Given the description of an element on the screen output the (x, y) to click on. 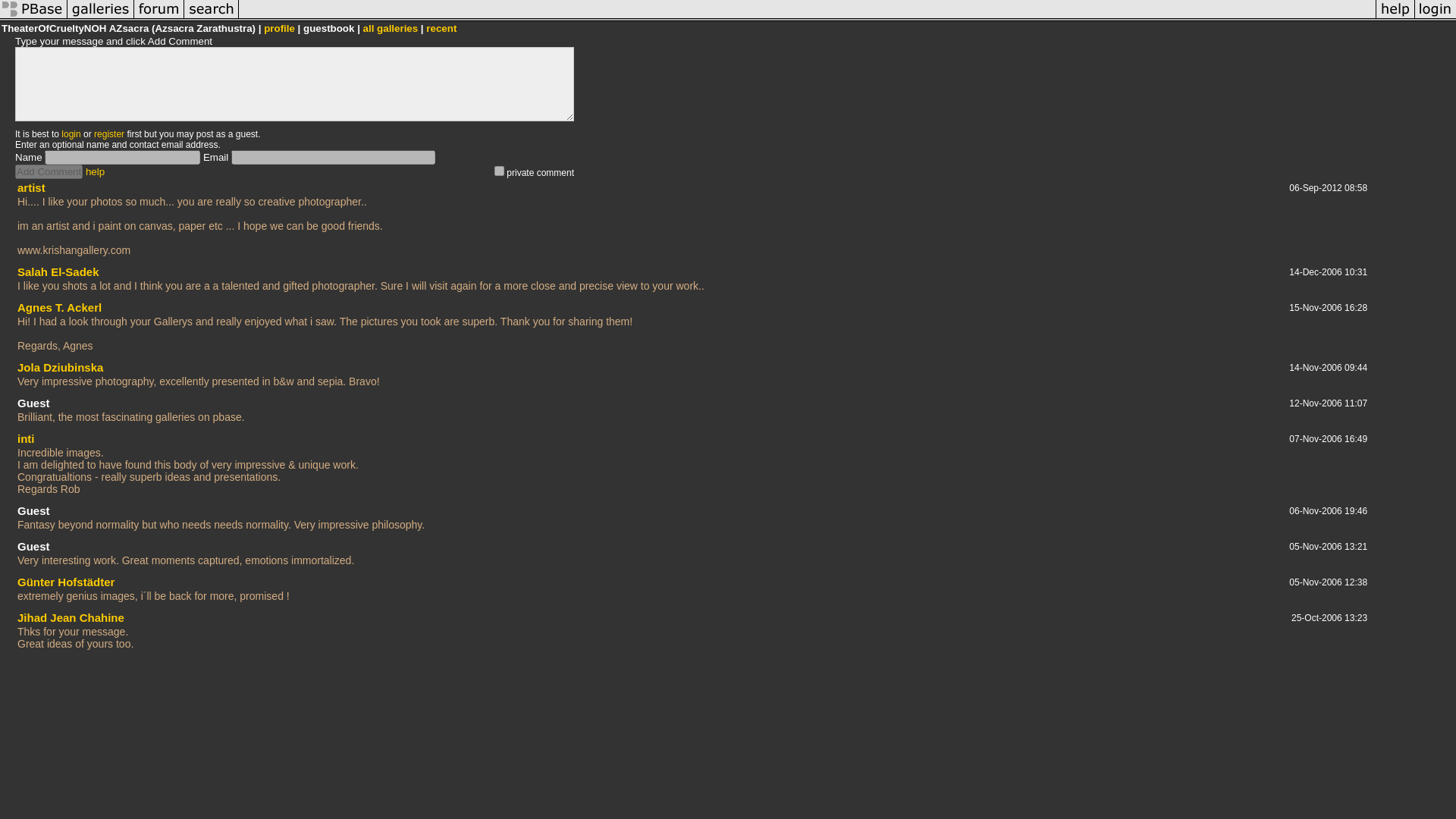
goto azsacra's home page (279, 28)
Add Comment (48, 171)
inti (25, 438)
goto azsacra's galleries (390, 28)
pbase photo search (211, 17)
login (70, 133)
all galleries (390, 28)
recent picture uploads (99, 17)
Add Comment (48, 171)
Jola Dziubinska (60, 367)
artist (31, 187)
Salah El-Sadek (58, 271)
photography discussion forums (158, 17)
help (94, 171)
